Given the description of an element on the screen output the (x, y) to click on. 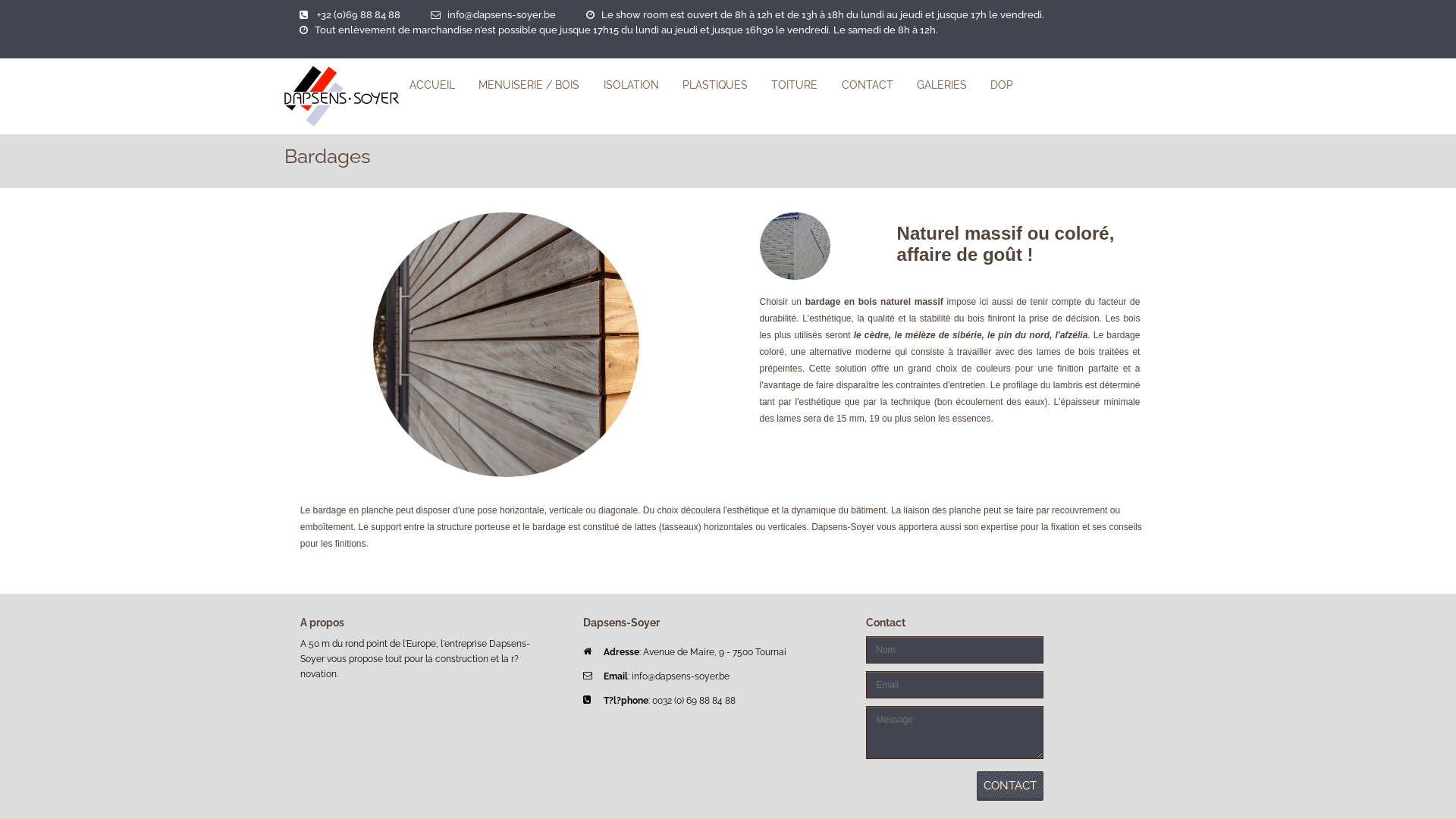
+32 (0)69 88 84 88 Element type: text (358, 14)
ISOLATION Element type: text (631, 83)
info@dapsens-soyer.be Element type: text (680, 676)
MENUISERIE / BOIS Element type: text (528, 83)
CONTACT Element type: text (867, 83)
Contact Element type: text (1009, 784)
info@dapsens-soyer.be Element type: text (501, 14)
GALERIES Element type: text (941, 83)
PLASTIQUES Element type: text (714, 83)
0032 (0) 69 88 84 88 Element type: text (693, 700)
TOITURE Element type: text (794, 83)
ACCUEIL Element type: text (431, 83)
Dapsens Soyer Element type: hover (341, 95)
DOP Element type: text (1001, 83)
